Given the description of an element on the screen output the (x, y) to click on. 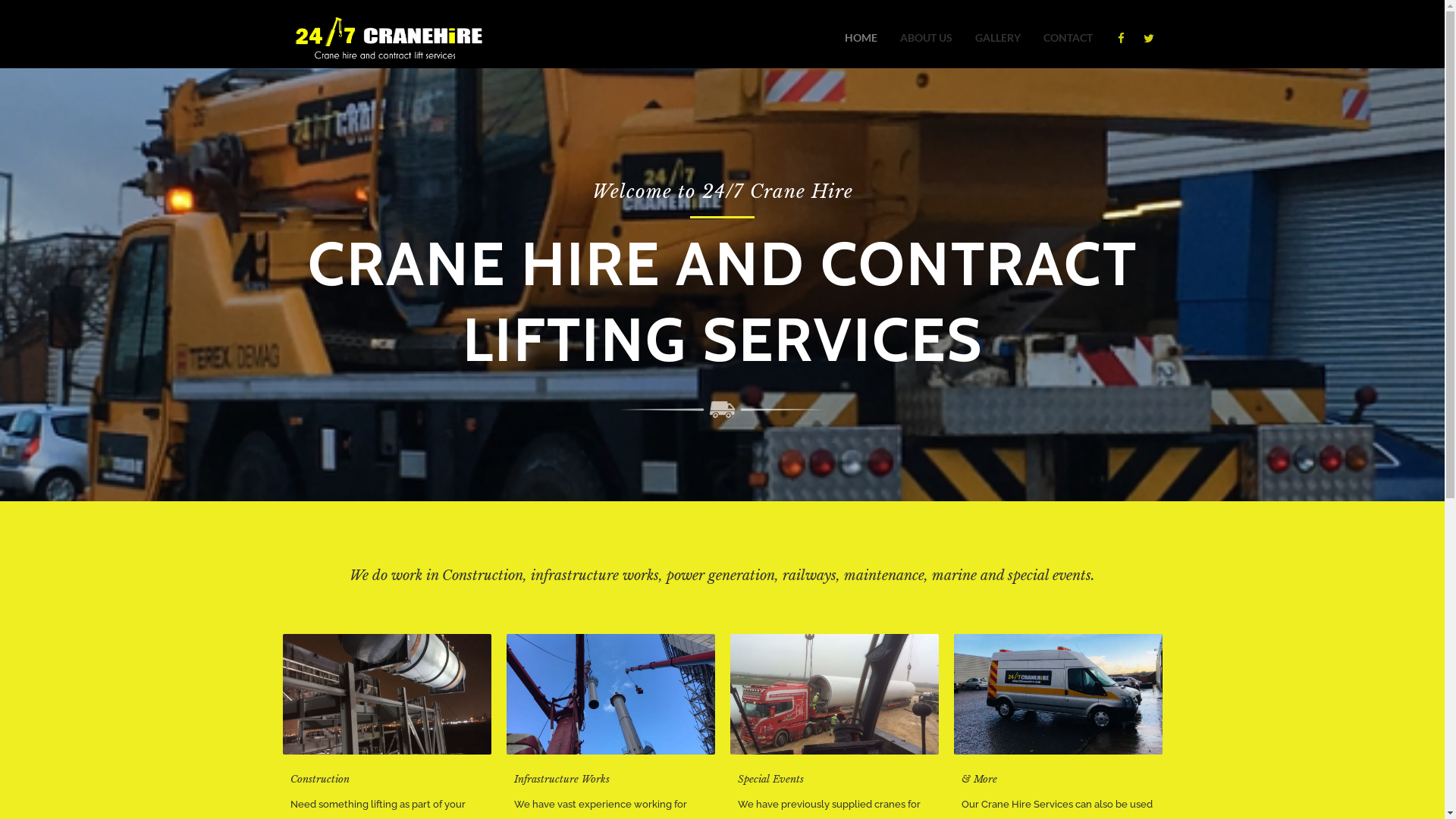
GALLERY Element type: text (997, 37)
CONTACT Element type: text (1067, 37)
HOME Element type: text (860, 37)
ABOUT US Element type: text (925, 37)
